Given the description of an element on the screen output the (x, y) to click on. 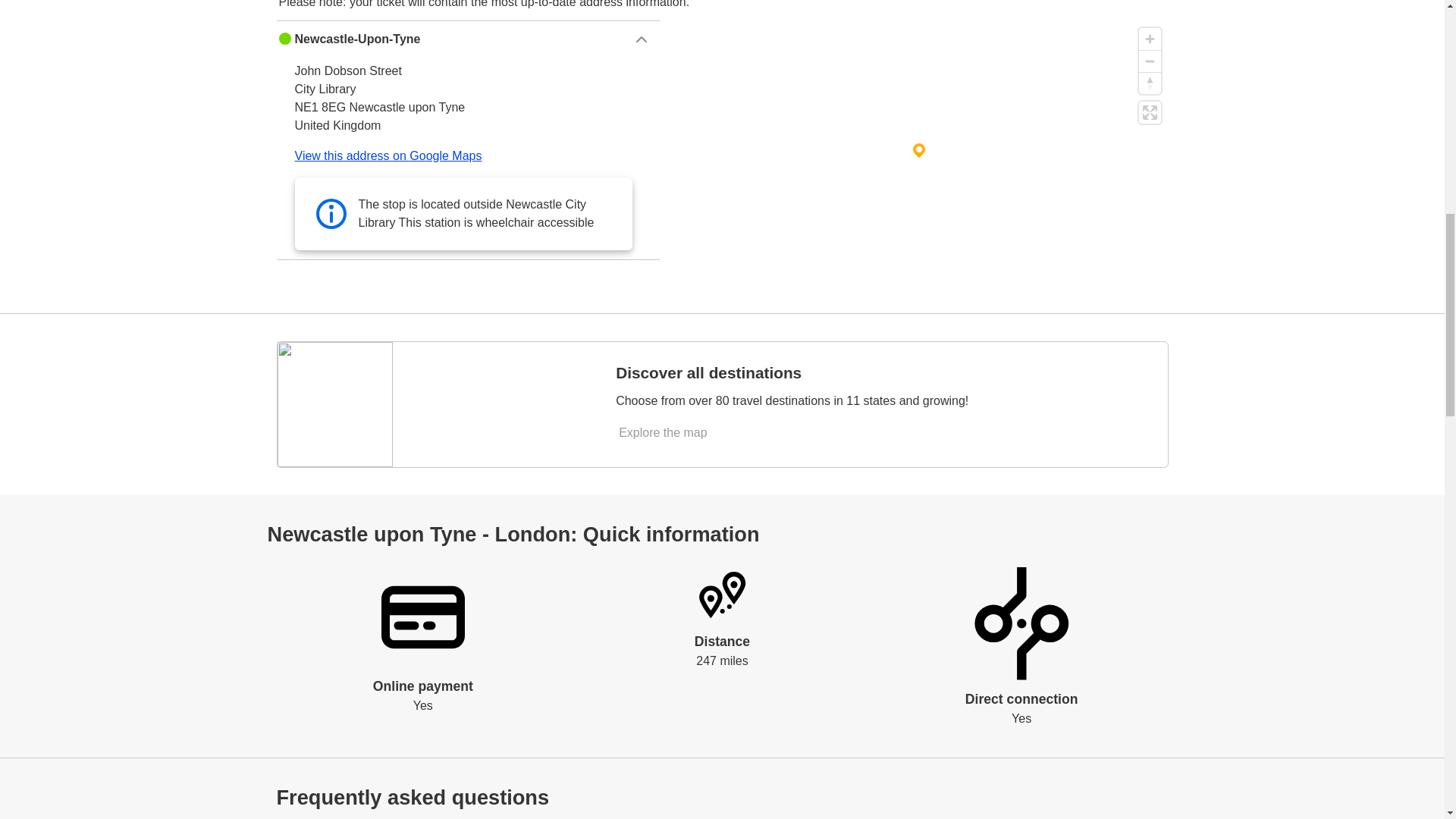
View this address on Google Maps (388, 155)
Zoom out (1149, 60)
Zoom in (1149, 38)
Enter fullscreen (1149, 112)
Reset bearing to north (1149, 83)
